Given the description of an element on the screen output the (x, y) to click on. 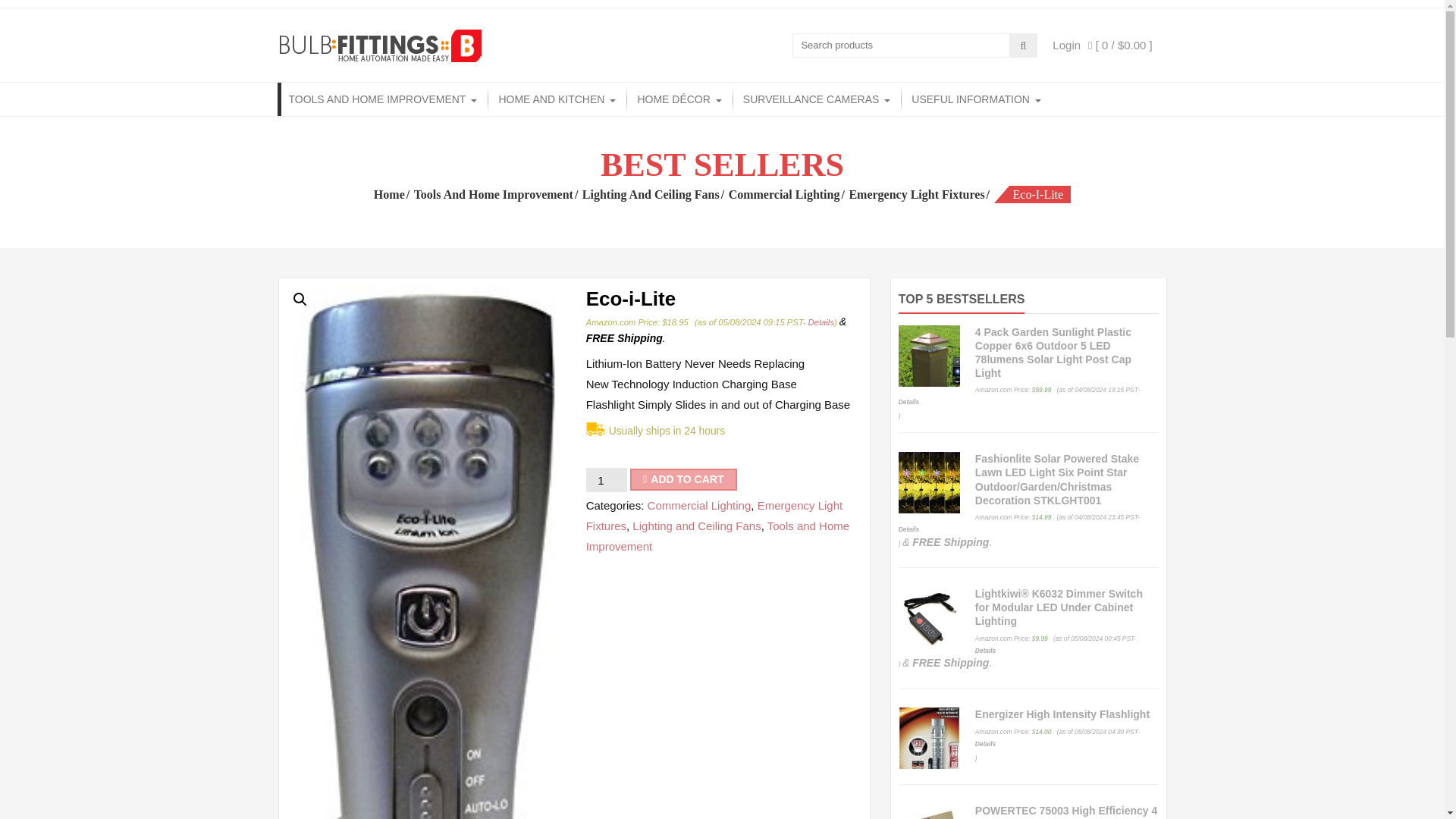
View your shopping cart (1120, 43)
HOME AND KITCHEN (557, 99)
1 (606, 479)
TOOLS AND HOME IMPROVEMENT (384, 99)
SURVEILLANCE CAMERAS (817, 99)
Login (1066, 43)
